Given the description of an element on the screen output the (x, y) to click on. 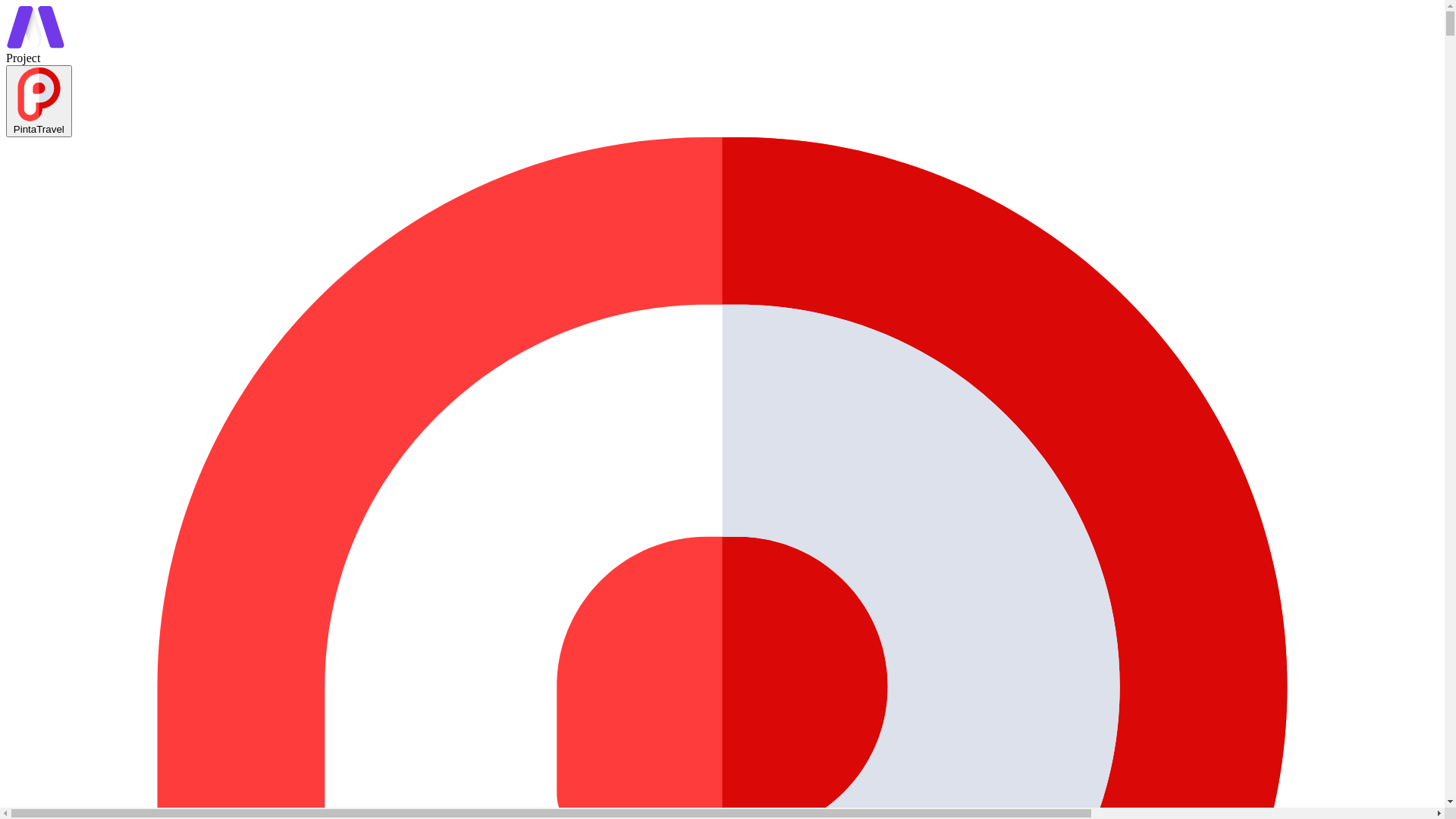
PintaTravel Element type: text (39, 101)
